Given the description of an element on the screen output the (x, y) to click on. 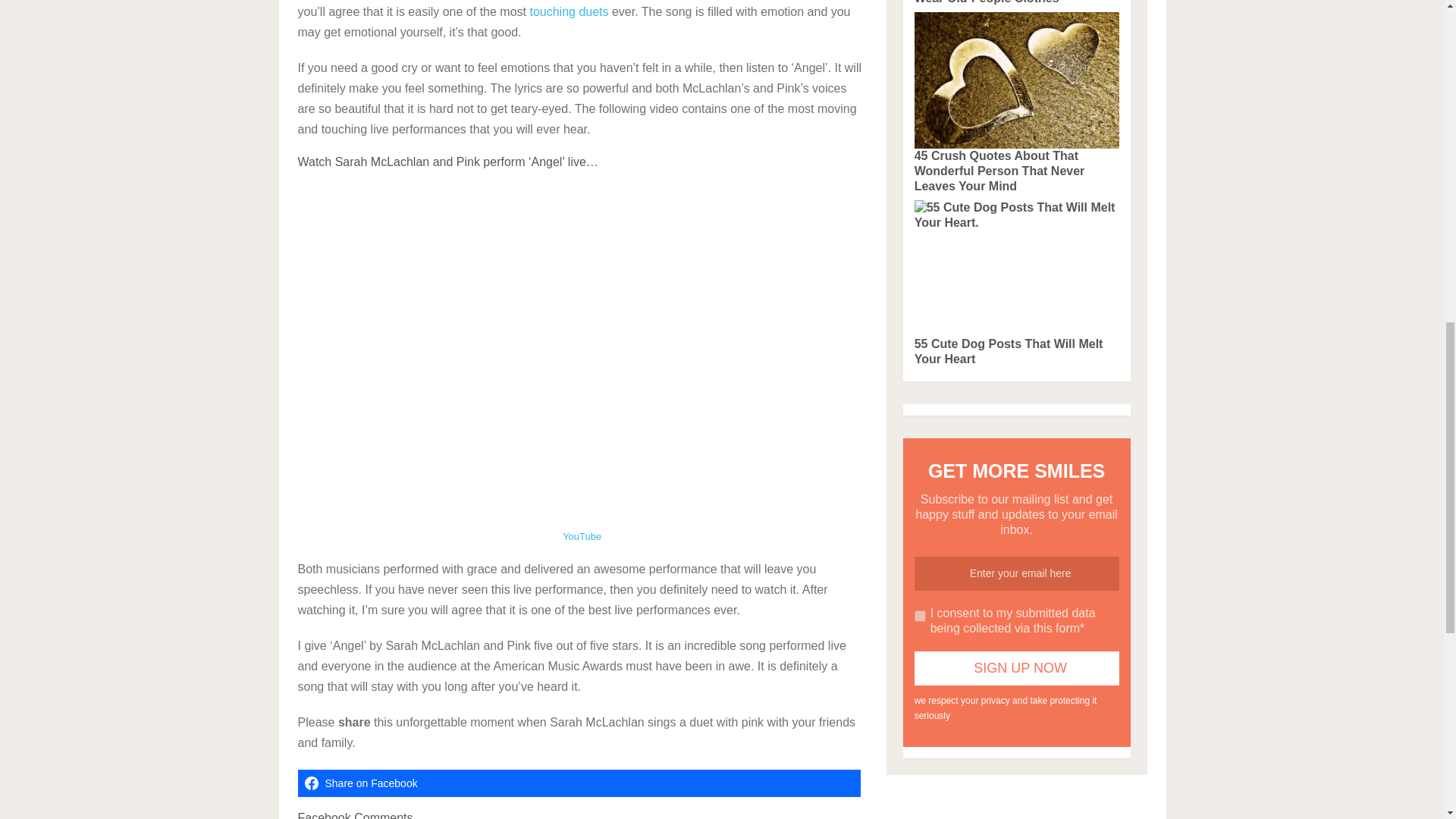
on (920, 615)
touching duets (568, 11)
Sign Up Now (1016, 668)
Share on Facebook (578, 782)
Share on Share on Facebook (578, 782)
YouTube (581, 536)
